Given the description of an element on the screen output the (x, y) to click on. 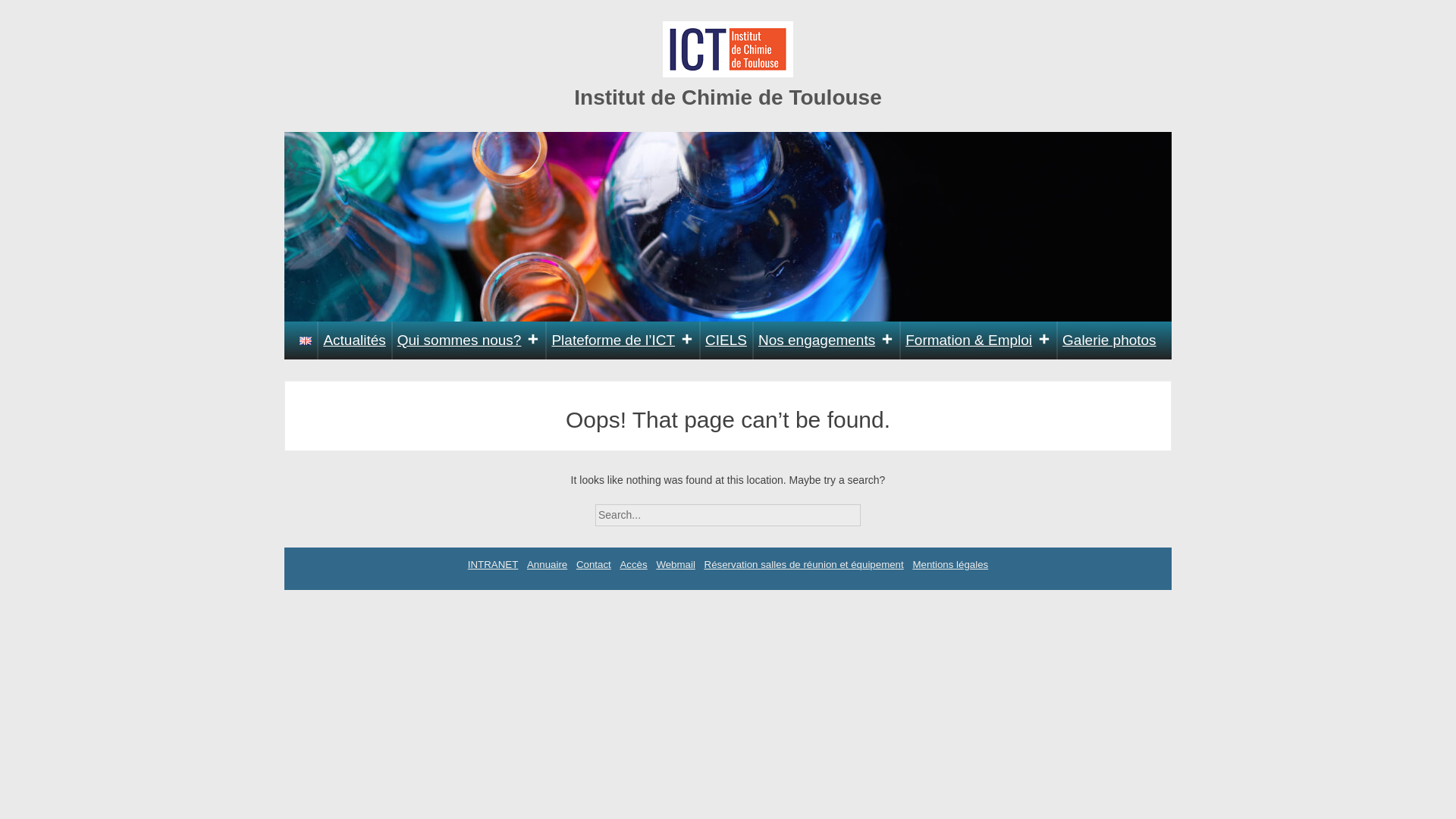
Institut de Chimie de Toulouse (727, 97)
Search (873, 509)
CIELS (726, 340)
Nos engagements (825, 340)
Search (873, 509)
Qui sommes nous? (468, 340)
